Given the description of an element on the screen output the (x, y) to click on. 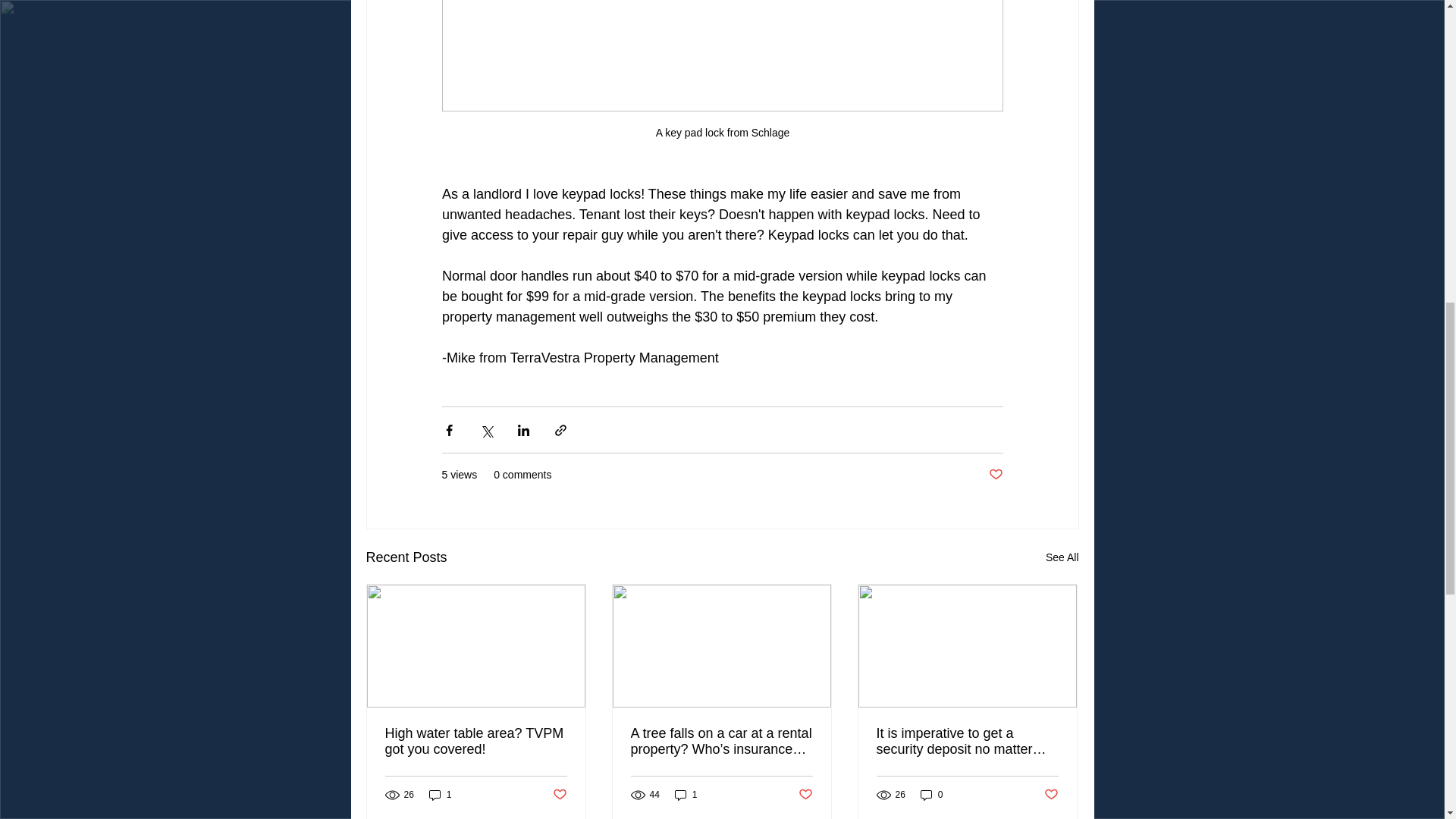
Post not marked as liked (558, 795)
Post not marked as liked (1050, 795)
0 (931, 794)
1 (685, 794)
1 (440, 794)
See All (1061, 557)
Post not marked as liked (804, 795)
High water table area? TVPM got you covered! (476, 741)
Post not marked as liked (995, 474)
